Given the description of an element on the screen output the (x, y) to click on. 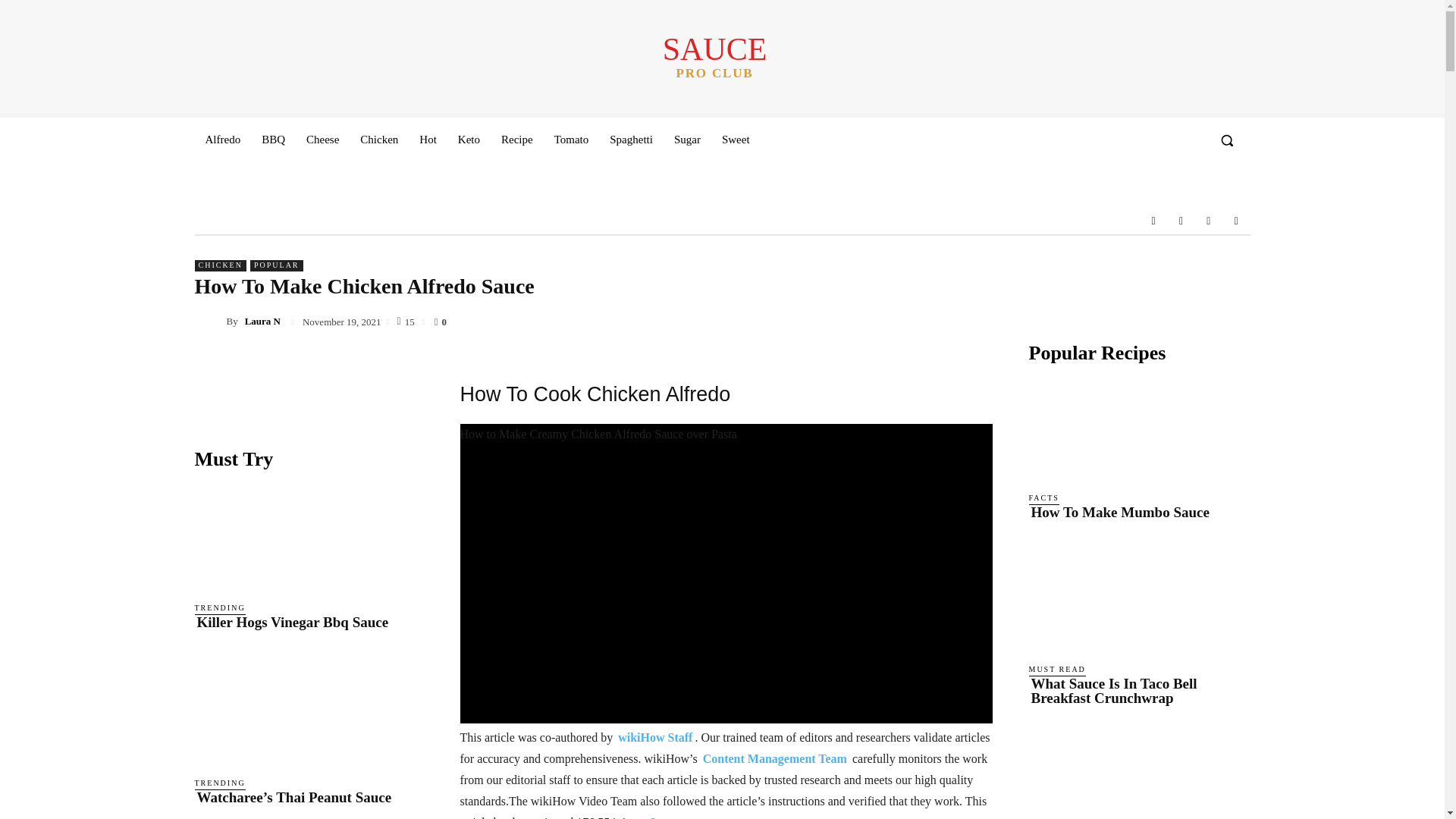
Cheese (322, 139)
Sugar (687, 139)
Youtube (1236, 220)
Spaghetti (713, 56)
Tomato (630, 139)
BBQ (571, 139)
Instagram (272, 139)
Facebook (1180, 220)
Keto (1153, 220)
